Given the description of an element on the screen output the (x, y) to click on. 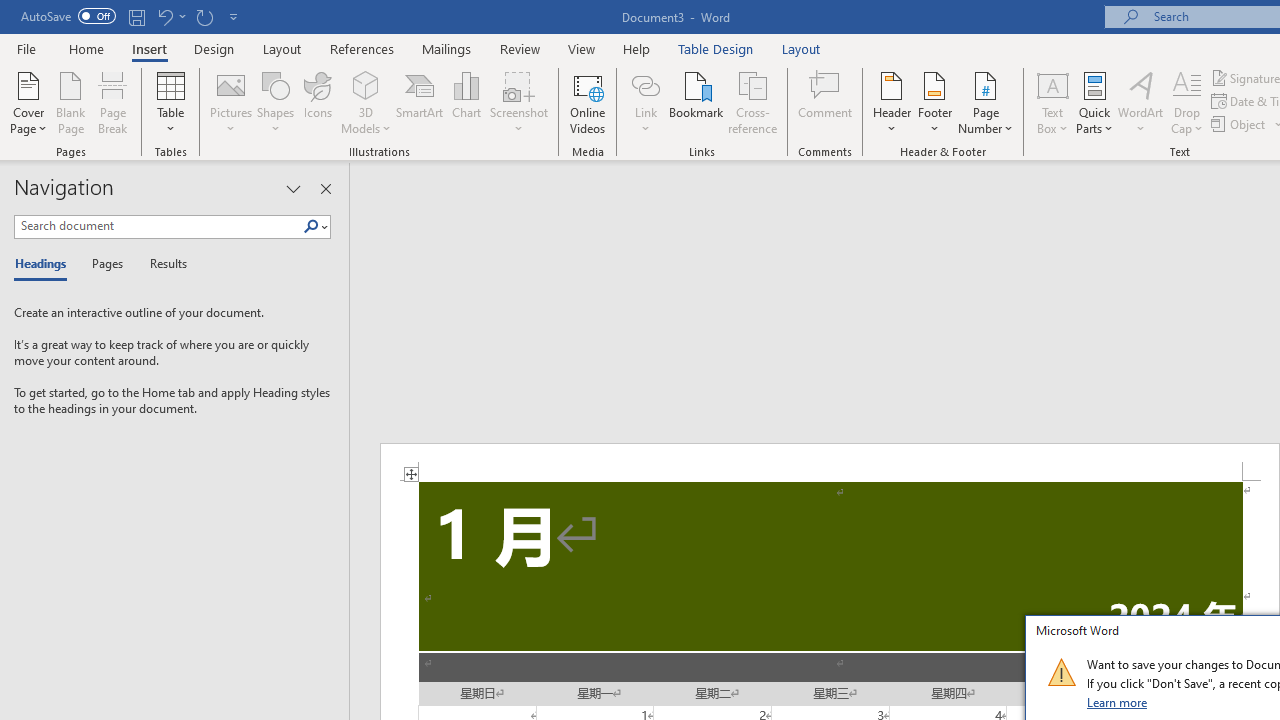
Cross-reference... (752, 102)
Page Number (986, 102)
Pictures (230, 102)
Learn more (1118, 702)
Table (170, 102)
Text Box (1052, 102)
WordArt (1141, 102)
Icons (317, 102)
SmartArt... (419, 102)
Undo Increase Indent (170, 15)
Chart... (466, 102)
